Given the description of an element on the screen output the (x, y) to click on. 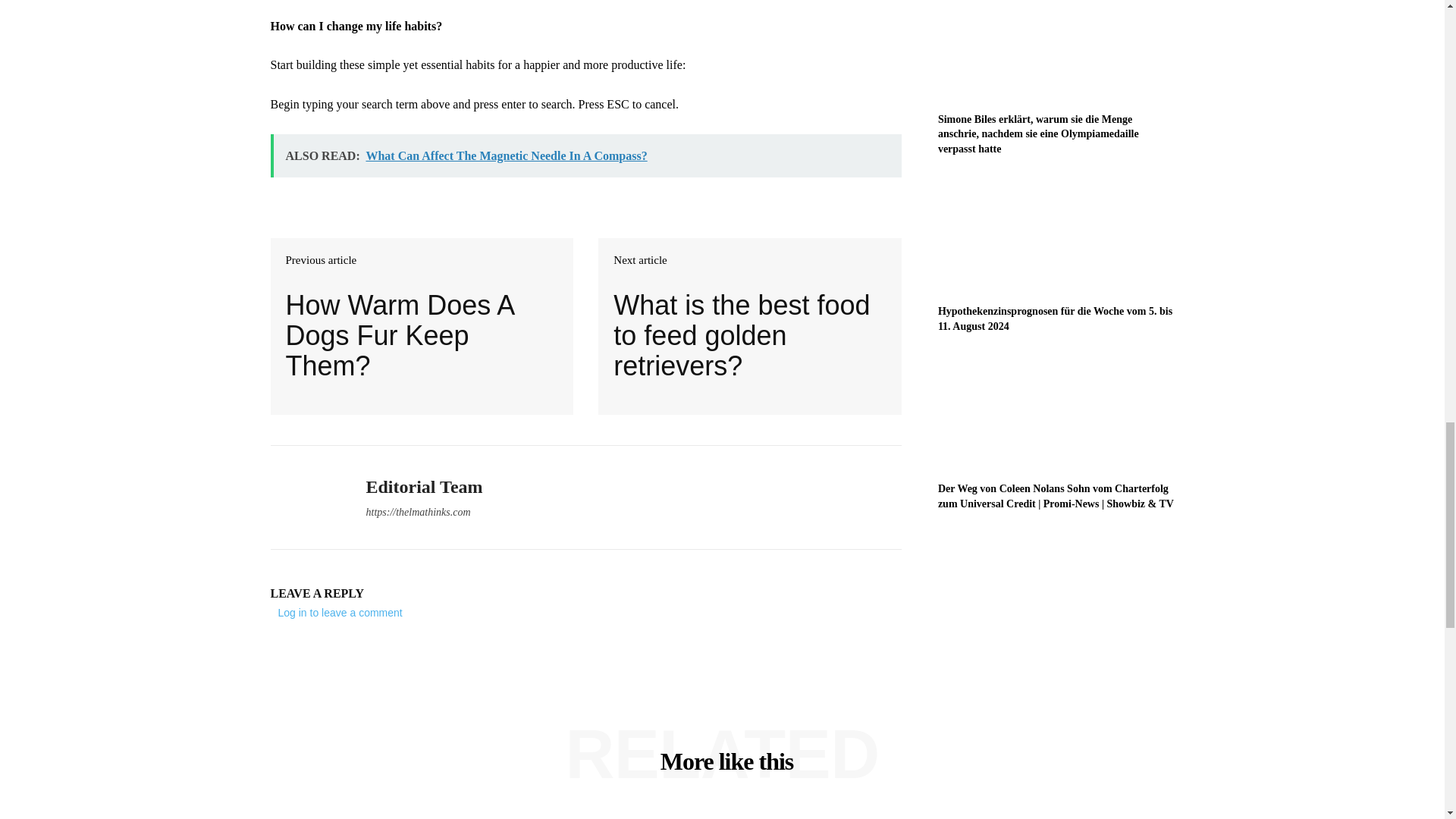
How Warm Does A Dogs Fur Keep Them? (421, 335)
Editorial Team (423, 486)
Log in to leave a comment (339, 612)
What is the best food to feed golden retrievers? (749, 335)
Editorial Team (305, 497)
